Given the description of an element on the screen output the (x, y) to click on. 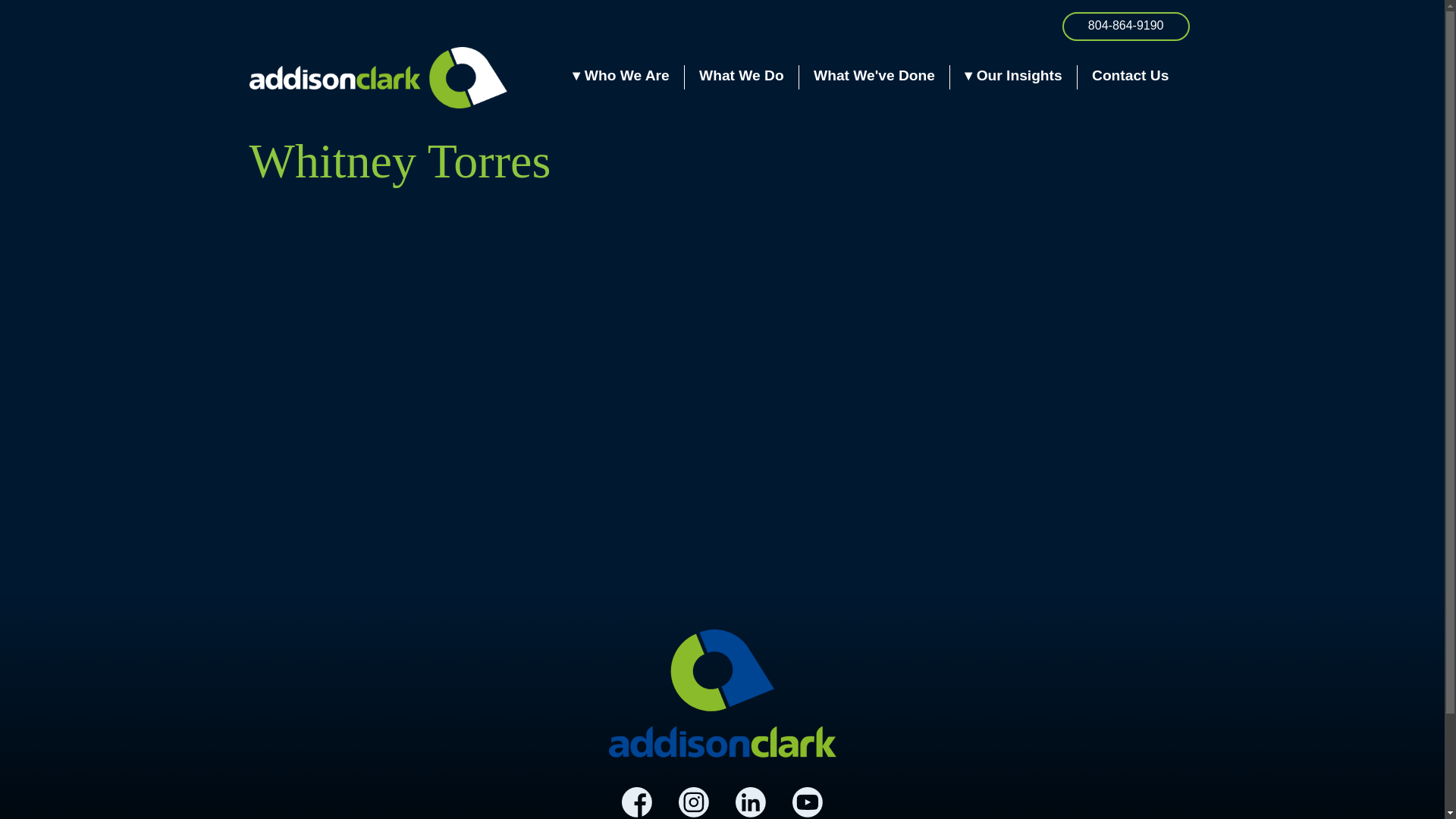
Toggle Drop-down (620, 75)
Hompage (721, 693)
Site logo file (377, 77)
What We Do (741, 75)
804-864-9190 (1125, 26)
Visit us on Facebook (636, 802)
What We've Done (873, 75)
Toggle Drop-down (1012, 75)
Call now (1125, 26)
Contact Us (1130, 75)
